Given the description of an element on the screen output the (x, y) to click on. 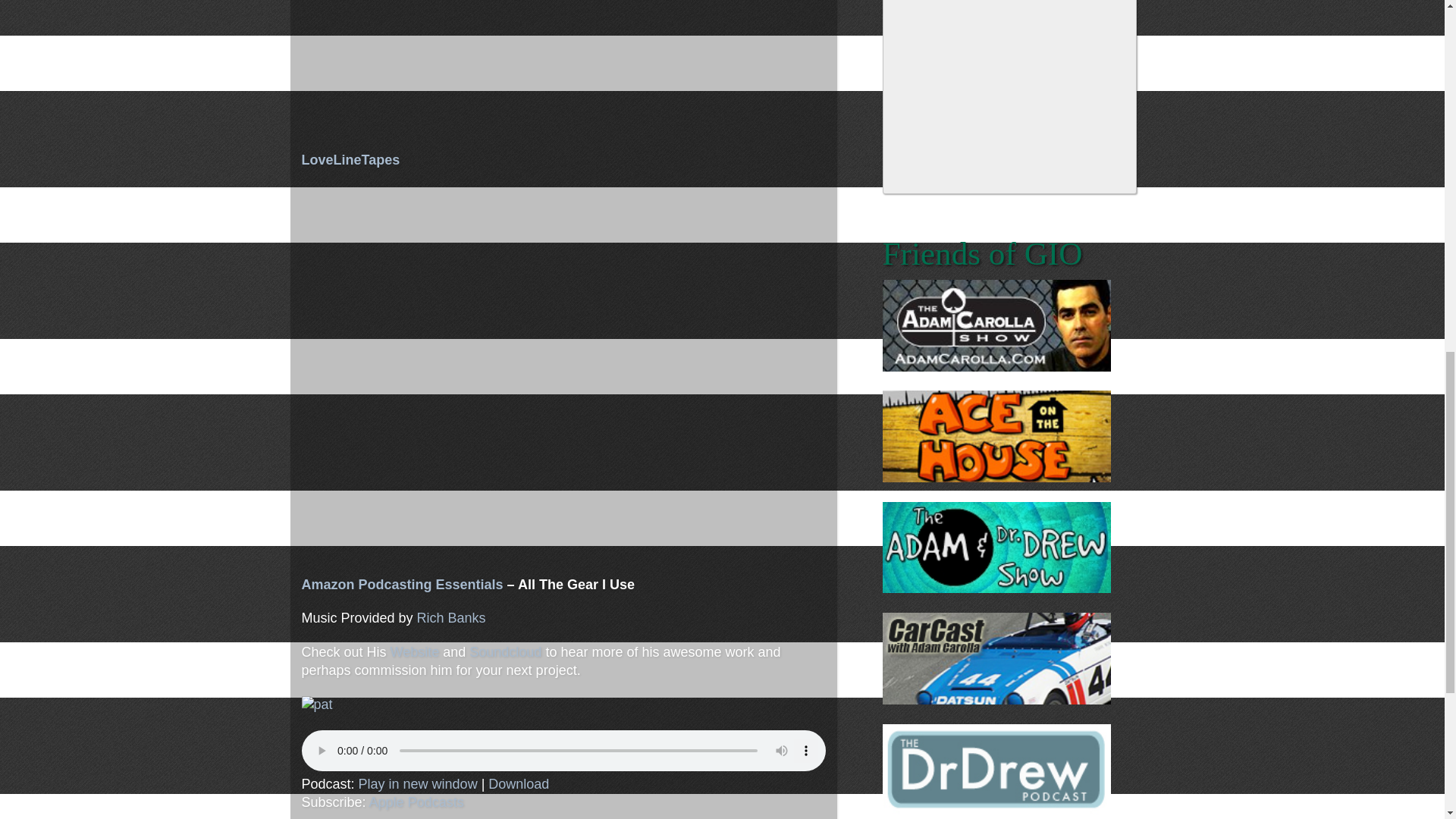
Download (517, 783)
Download (517, 783)
LoveLineTapes (350, 159)
Play in new window (417, 783)
Rich Banks (451, 617)
Amazon Podcasting Essentials (402, 583)
Apple Podcasts (416, 801)
Play in new window (417, 783)
Website (414, 652)
Subscribe on Apple Podcasts (416, 801)
